Given the description of an element on the screen output the (x, y) to click on. 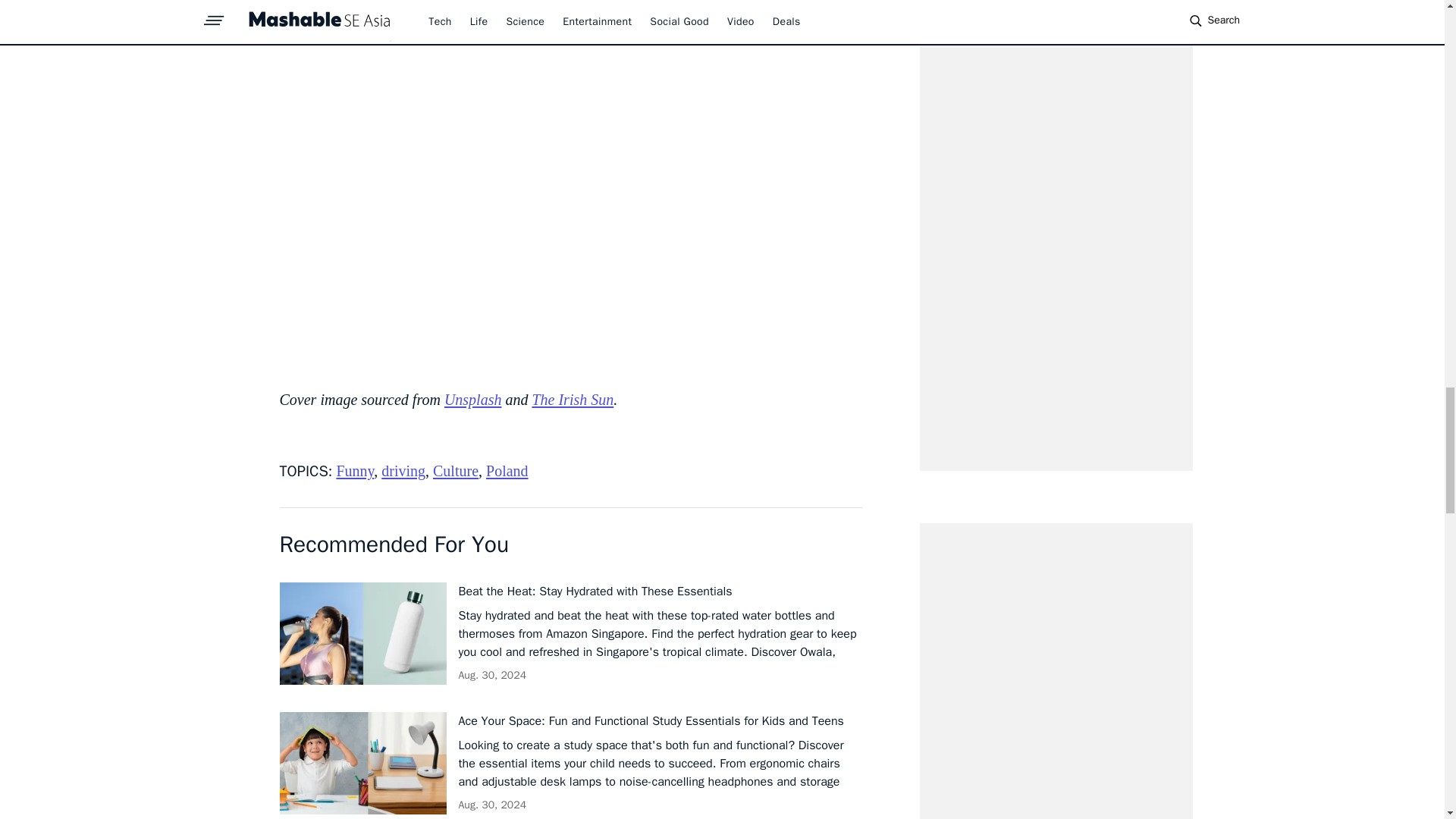
Culture (455, 470)
The Irish Sun (571, 399)
Instagram (668, 11)
Unsplash (473, 399)
driving (403, 470)
YouTube (788, 11)
Facebook (516, 11)
Funny (355, 470)
Poland (507, 470)
